Given the description of an element on the screen output the (x, y) to click on. 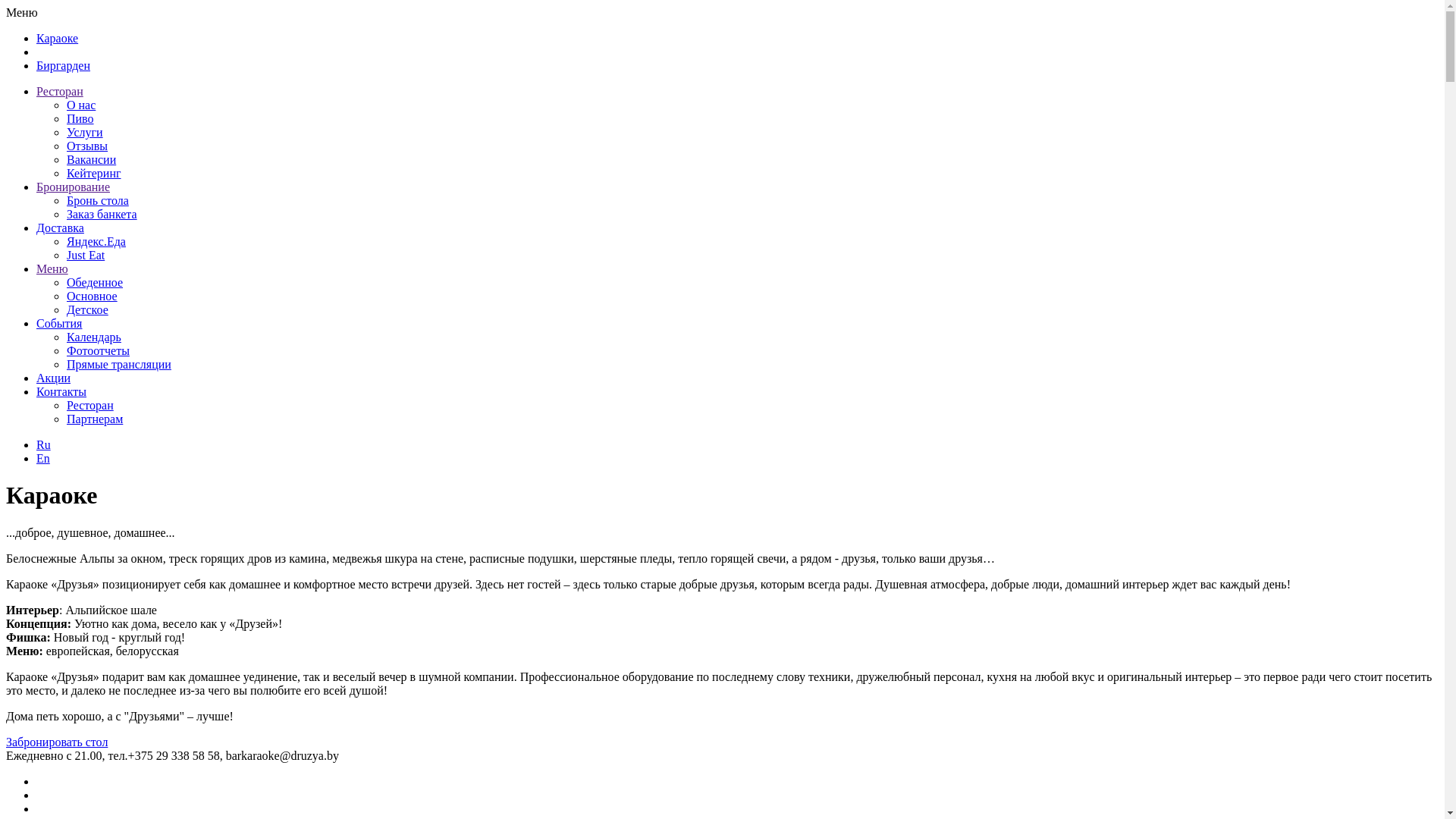
En Element type: text (43, 457)
Just Eat Element type: text (85, 254)
Ru Element type: text (43, 444)
